Given the description of an element on the screen output the (x, y) to click on. 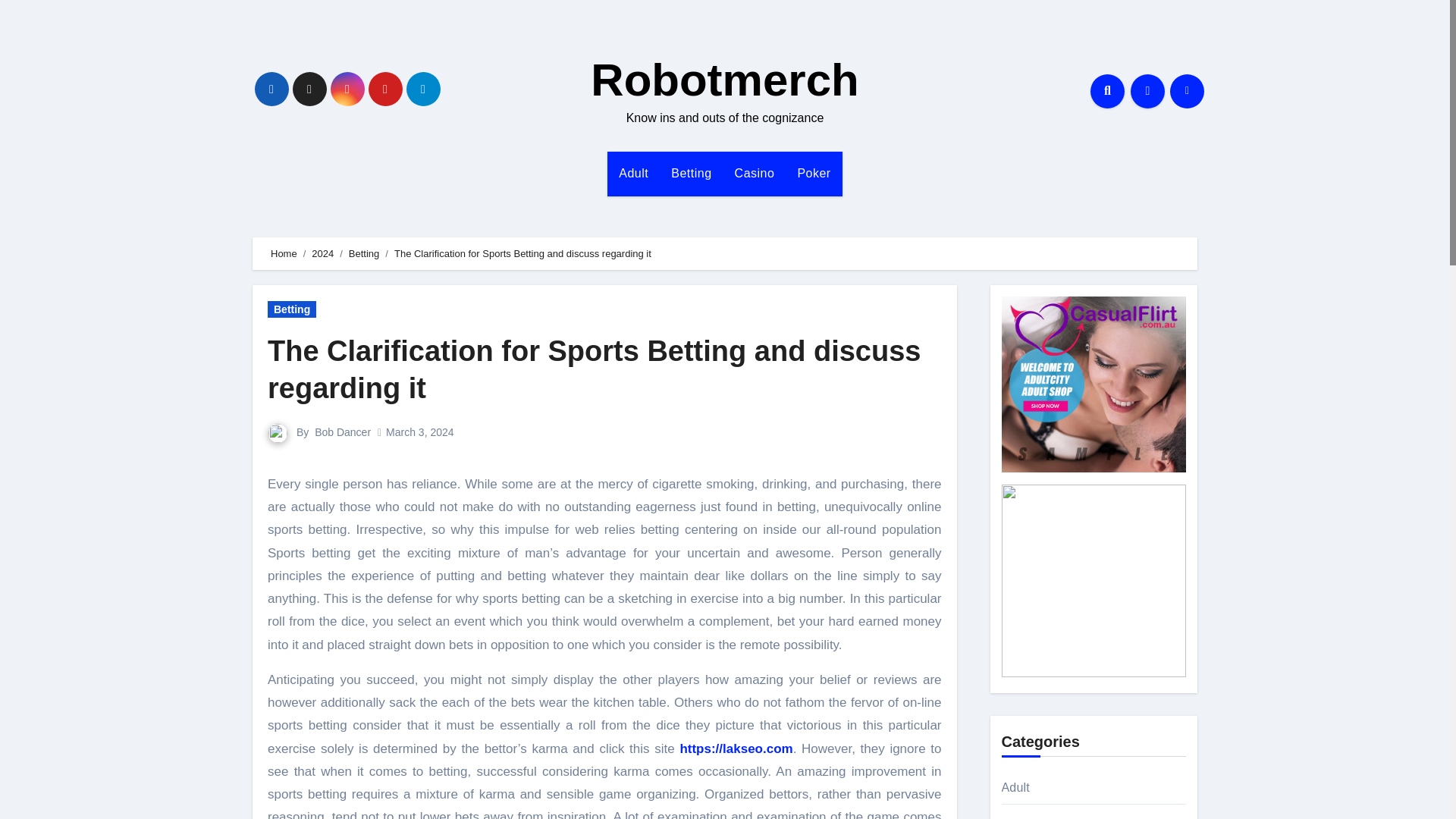
Poker (813, 173)
Betting (690, 173)
March 3, 2024 (419, 431)
Poker (813, 173)
Adult (633, 173)
Home (283, 253)
Betting (291, 309)
Betting (690, 173)
